Given the description of an element on the screen output the (x, y) to click on. 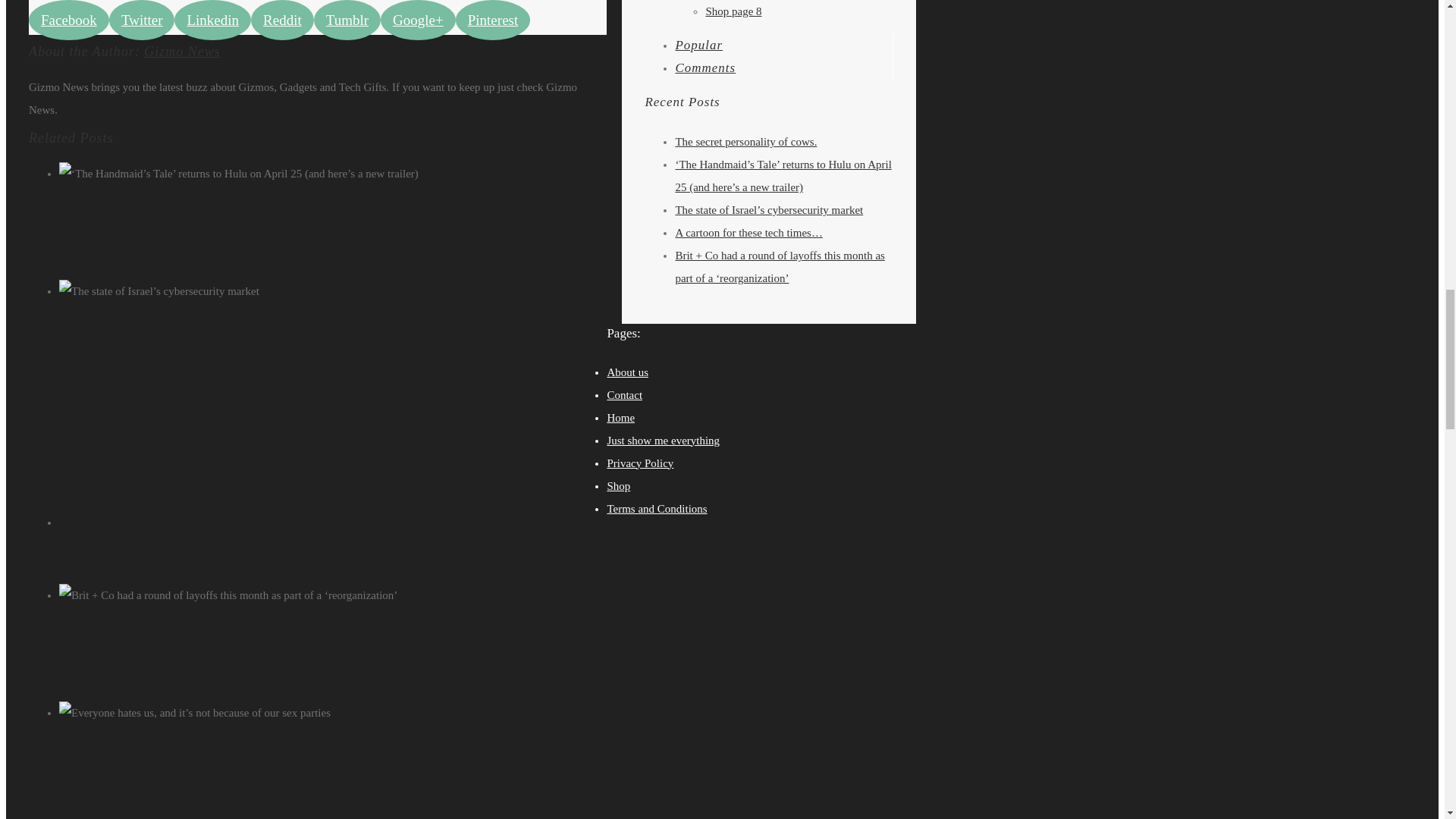
Permalink (356, 735)
Reddit (282, 20)
Permalink (356, 616)
Permalink (356, 196)
Tumblr (347, 20)
Twitter (141, 20)
Pinterest (493, 20)
Gizmo News (182, 51)
Facebook (69, 20)
Pinterest (493, 20)
Linkedin (212, 20)
Twitter (141, 20)
Permalink (356, 313)
Linkedin (212, 20)
Tumblr (347, 20)
